Given the description of an element on the screen output the (x, y) to click on. 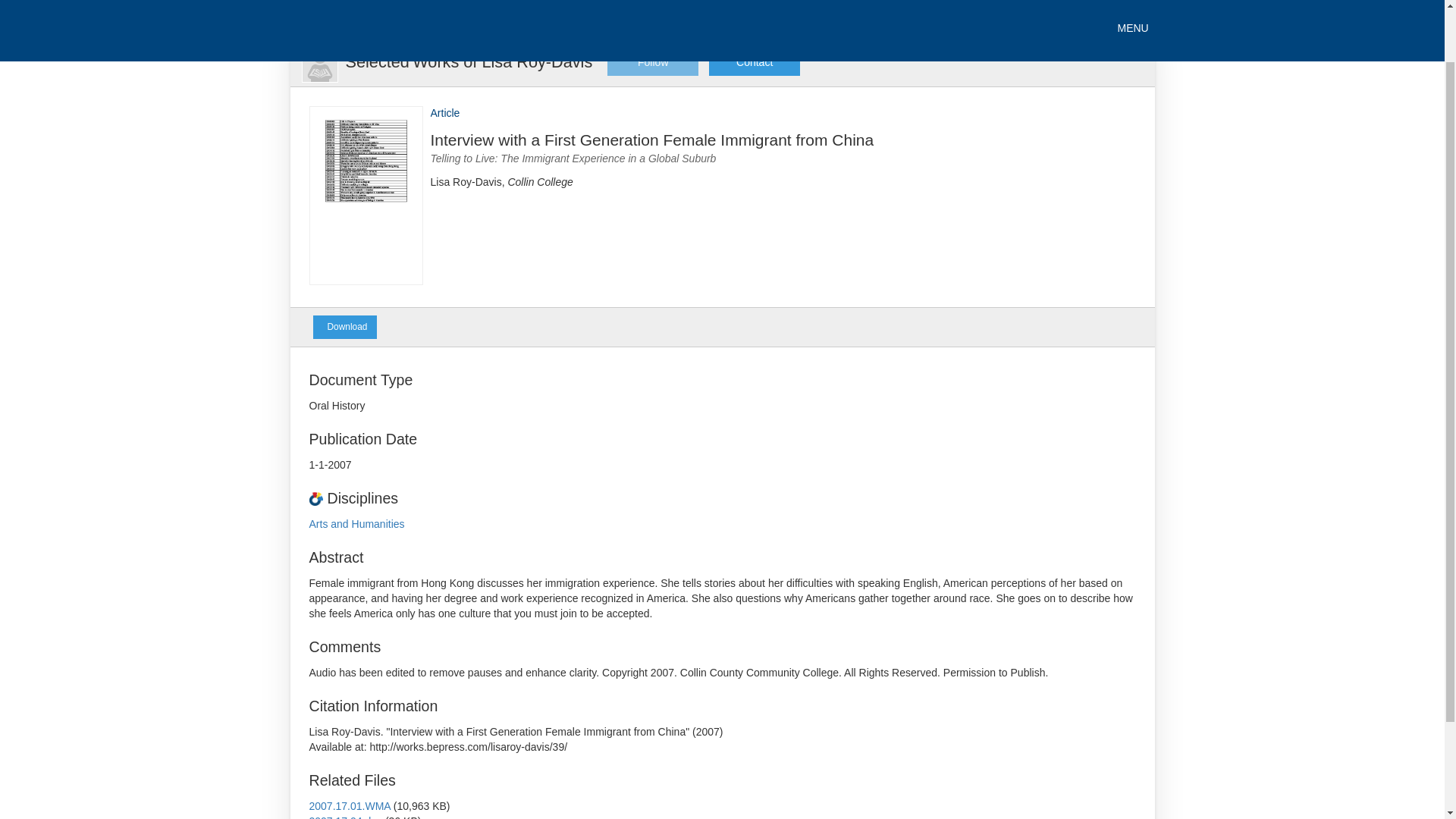
Go to Collin College (328, 11)
Back to Lisa Roy-Davis's Works (469, 61)
2007.17.01.WMA (349, 806)
Follow (652, 62)
Collin College (328, 11)
Contact (754, 62)
Arts and Humanities (356, 523)
Digital Commons Network: Arts and Humanities (356, 523)
Back to Lisa Roy-Davis's Works (318, 63)
